Given the description of an element on the screen output the (x, y) to click on. 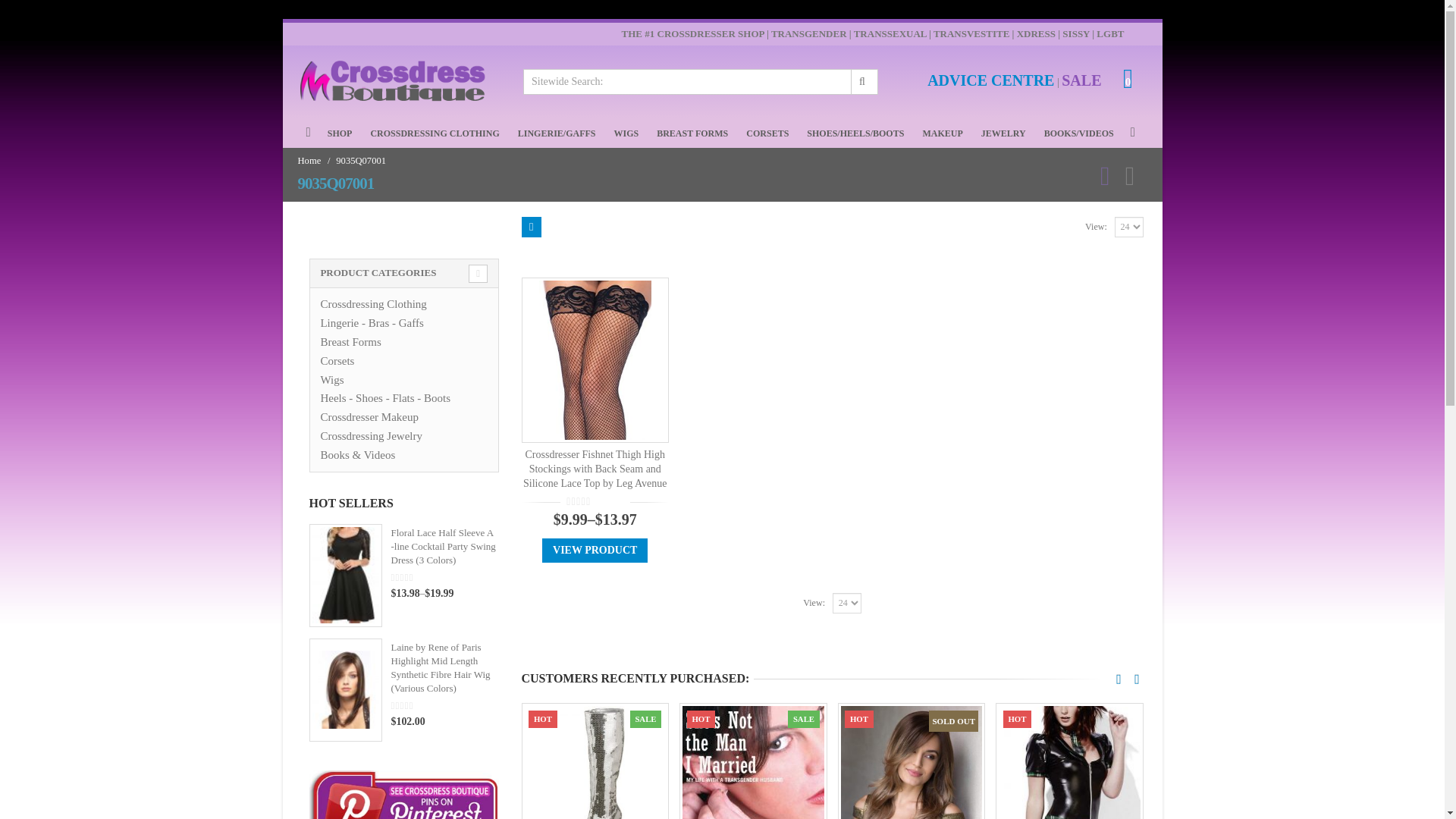
ADVICE CENTRE (990, 81)
SALE (1080, 81)
CROSSDRESSING CLOTHING (433, 132)
WIGS (625, 132)
SHOP (339, 132)
Grid View (531, 227)
Search (862, 81)
